Given the description of an element on the screen output the (x, y) to click on. 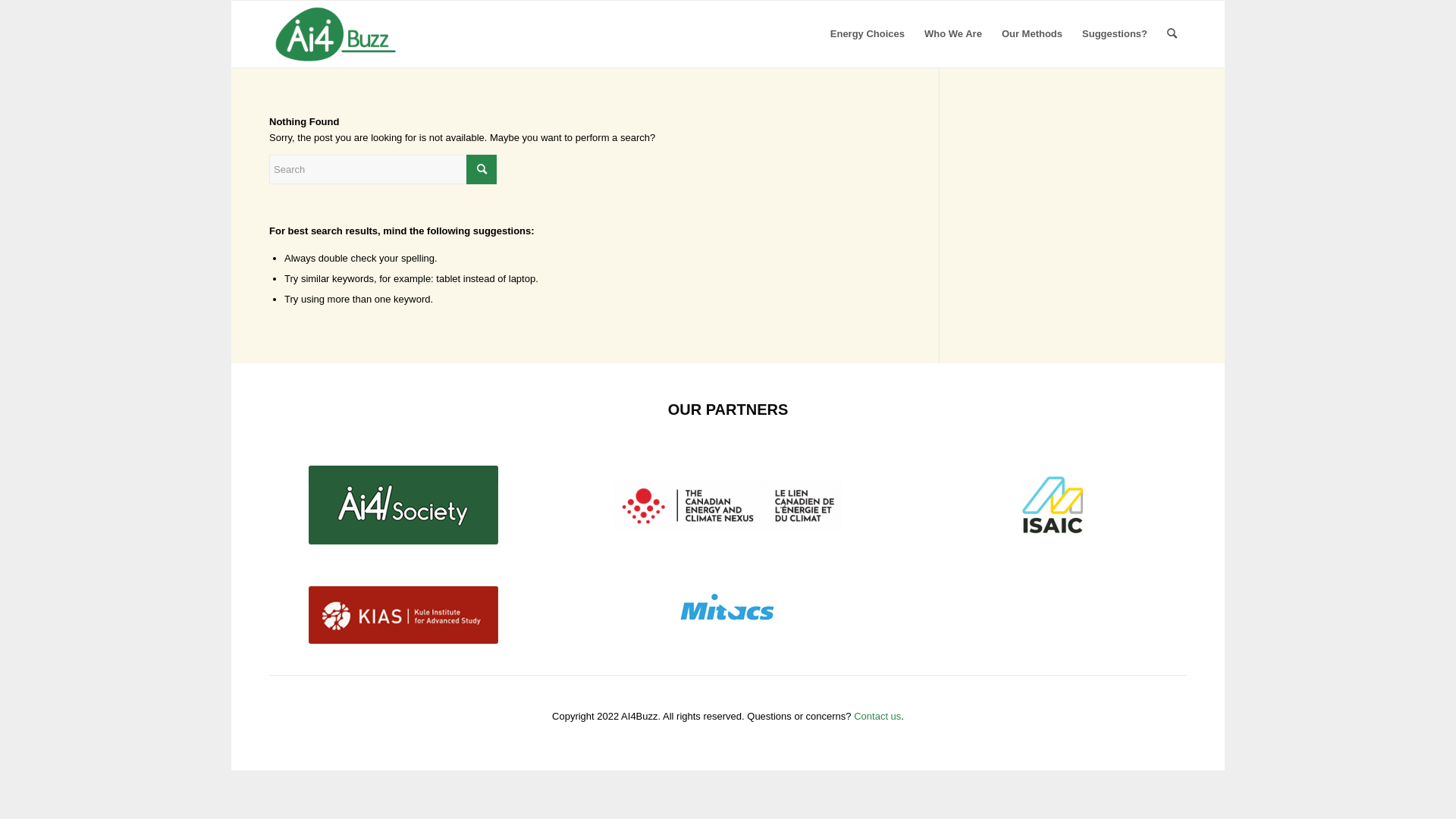
Who We Are Element type: text (952, 33)
ai4buzz_logo1 Element type: hover (335, 33)
kias_logo Element type: hover (403, 614)
Energy Choices Element type: text (867, 33)
Our Methods Element type: text (1031, 33)
mitacs_logo Element type: hover (727, 607)
CECN_logo Element type: hover (727, 504)
Suggestions? Element type: text (1114, 33)
Isaic_logo Element type: hover (1052, 504)
ai4society_logo Element type: hover (403, 504)
Contact us Element type: text (876, 715)
